Given the description of an element on the screen output the (x, y) to click on. 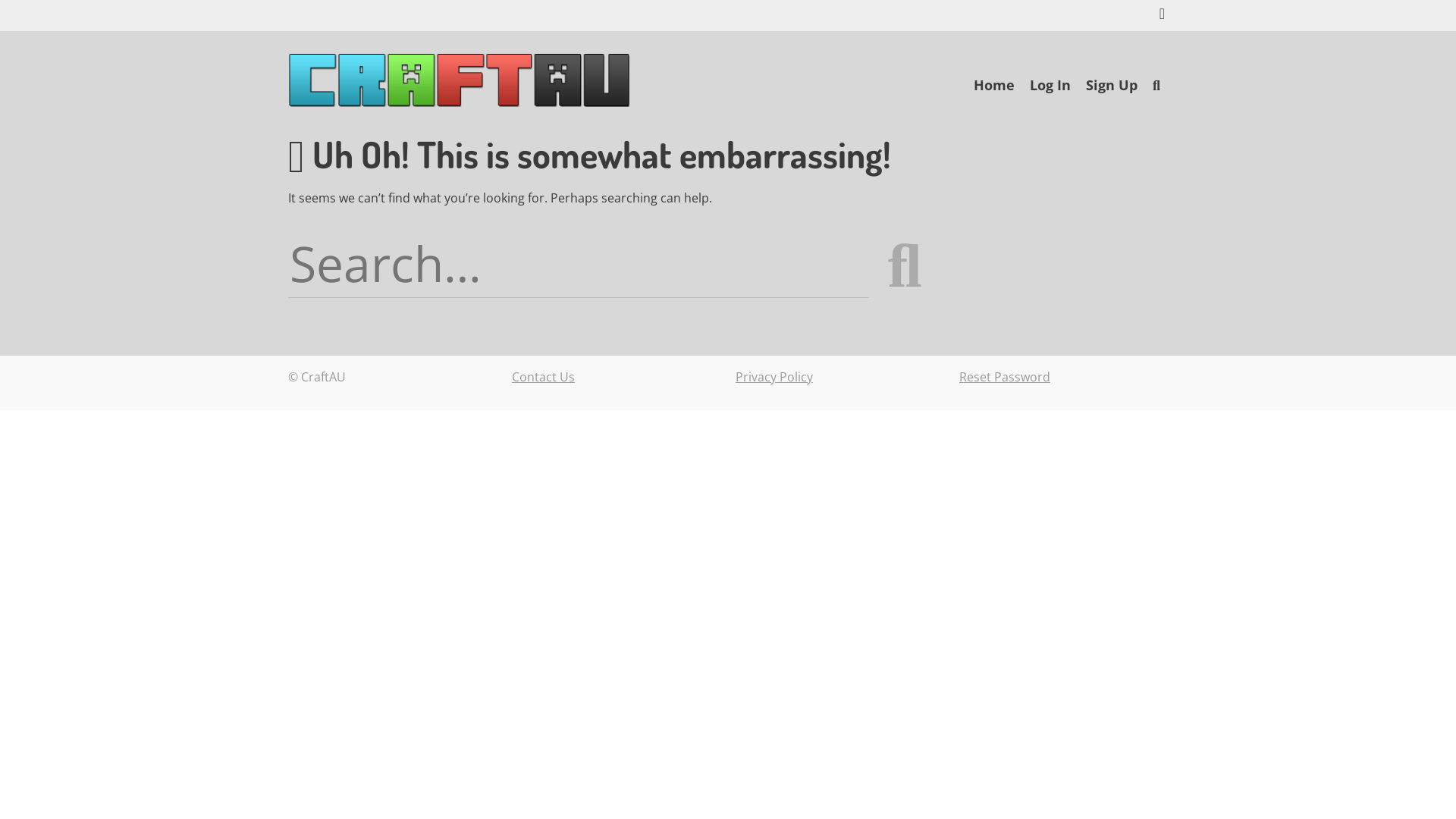
Skip to content Element type: text (966, 94)
Join me on Discord Element type: text (1161, 15)
Sign Up Element type: text (1111, 85)
Reset Password Element type: text (1004, 376)
Privacy Policy Element type: text (773, 376)
Home Element type: text (994, 85)
Log In Element type: text (1050, 85)
Contact Us Element type: text (542, 376)
